Given the description of an element on the screen output the (x, y) to click on. 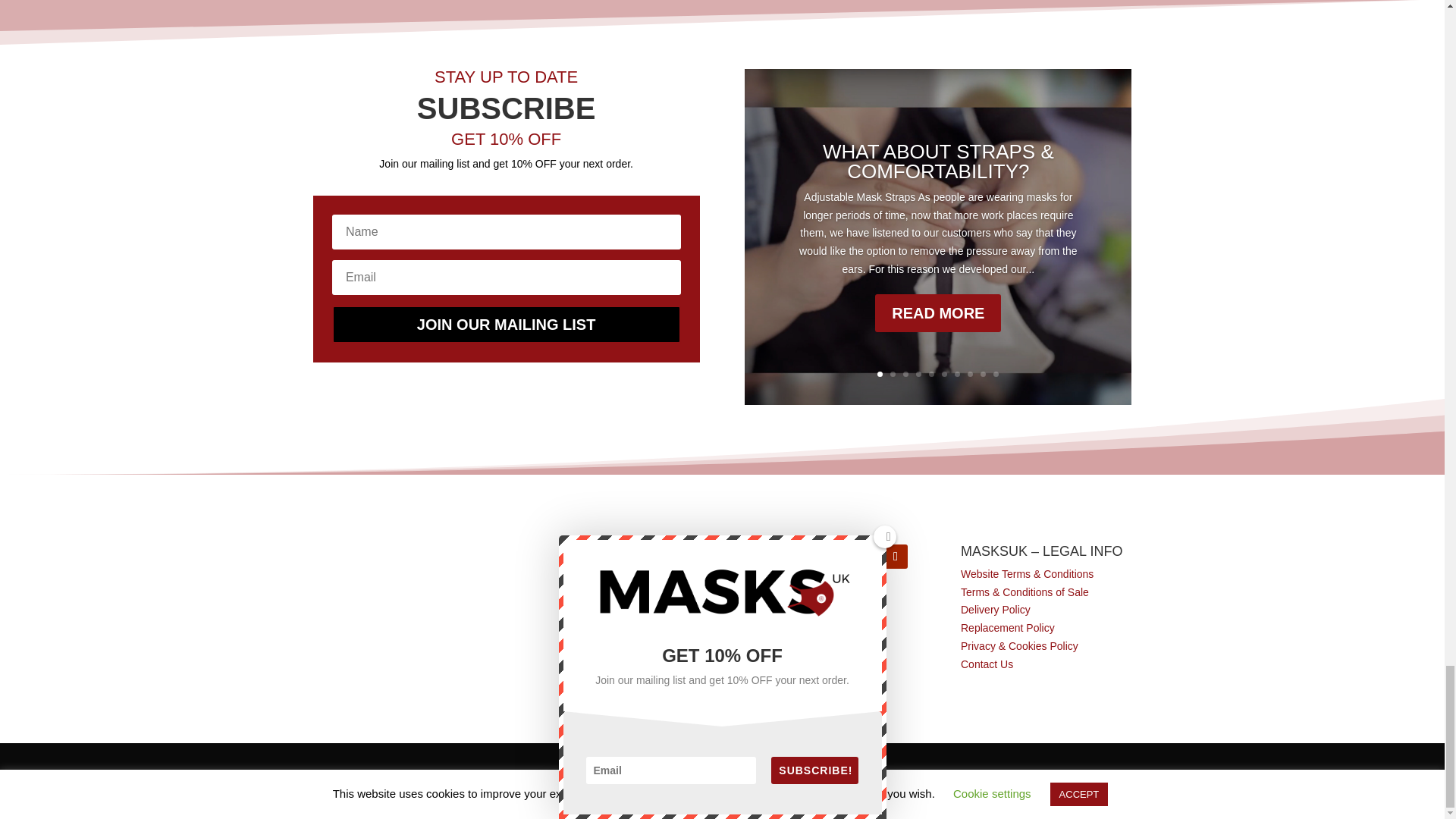
Hand Face Space (613, 576)
Follow on Instagram (804, 556)
Follow on LinkedIn (834, 556)
masks-uk-logo-v4 (398, 563)
protect-the-nhs (613, 666)
Follow on X (865, 556)
Follow on Facebook (773, 556)
nanotech-v2 (398, 623)
